Given the description of an element on the screen output the (x, y) to click on. 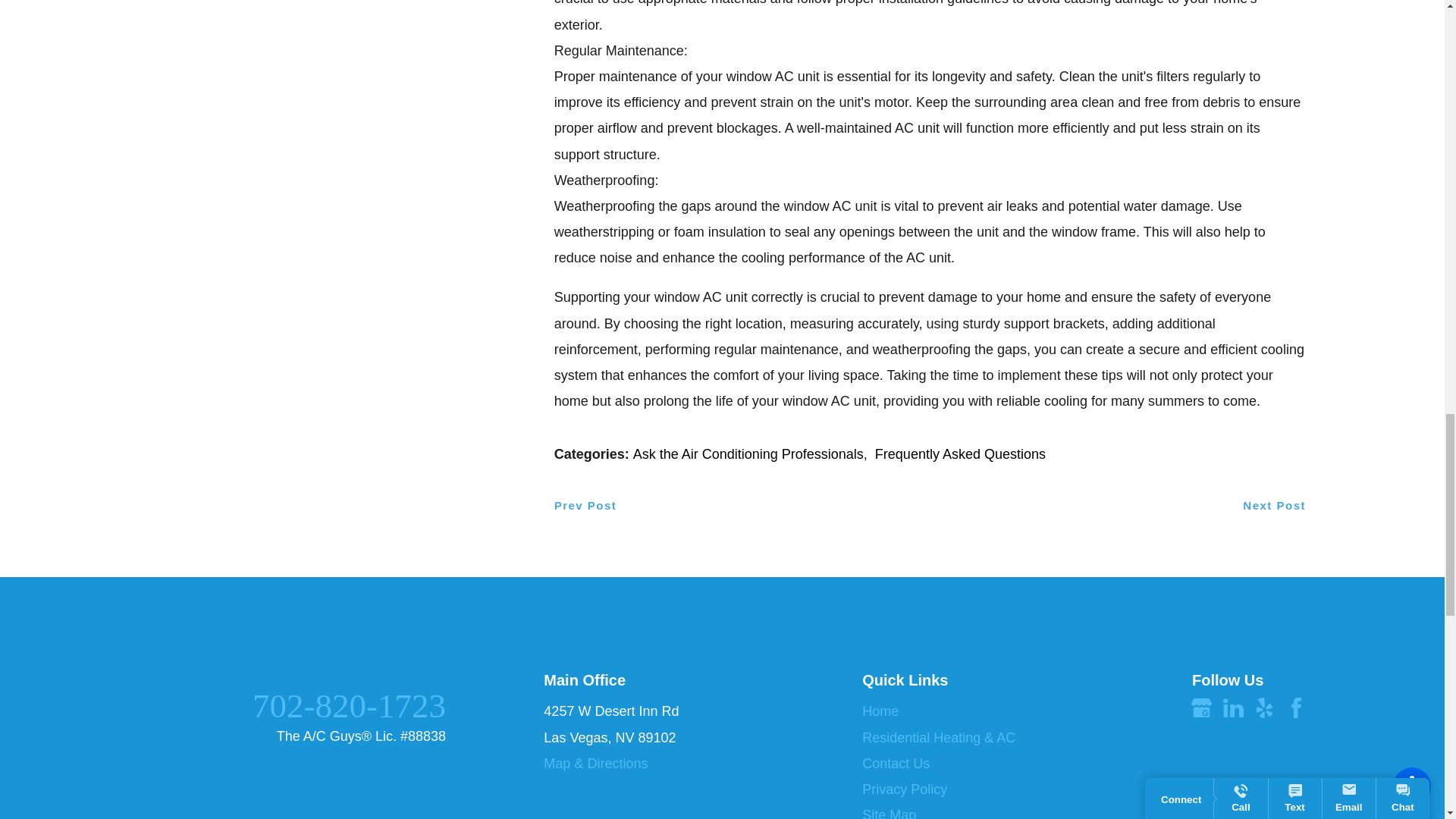
Google Business Profile (1201, 707)
LinkedIn (1233, 707)
Yelp (1264, 707)
